Given the description of an element on the screen output the (x, y) to click on. 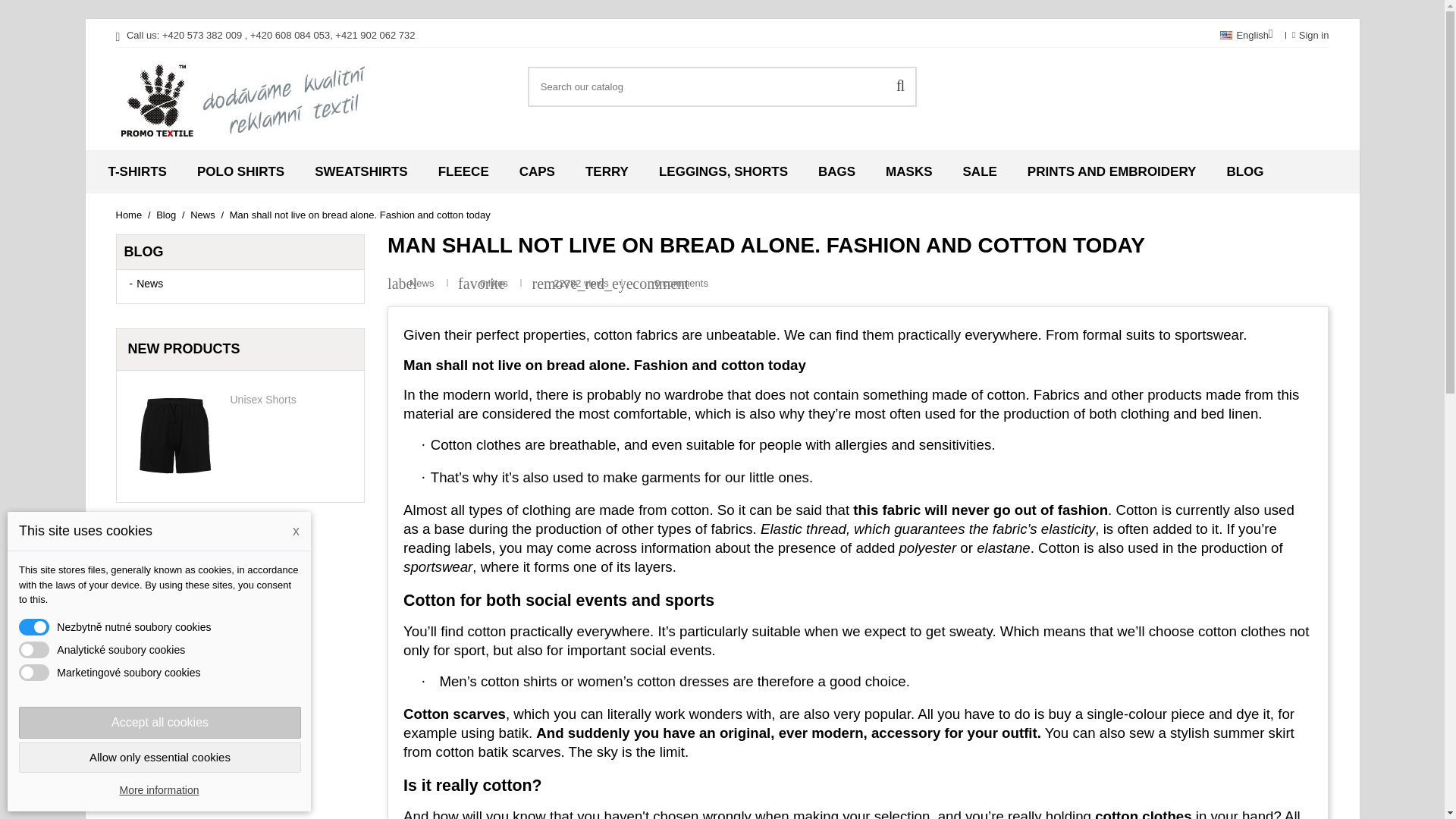
Home (129, 214)
TERRY (606, 171)
News (203, 214)
Link to News (149, 283)
News (149, 283)
News (422, 283)
0 comments (680, 283)
MASKS (908, 171)
FLEECE (463, 171)
POLO SHIRTS (240, 171)
